Given the description of an element on the screen output the (x, y) to click on. 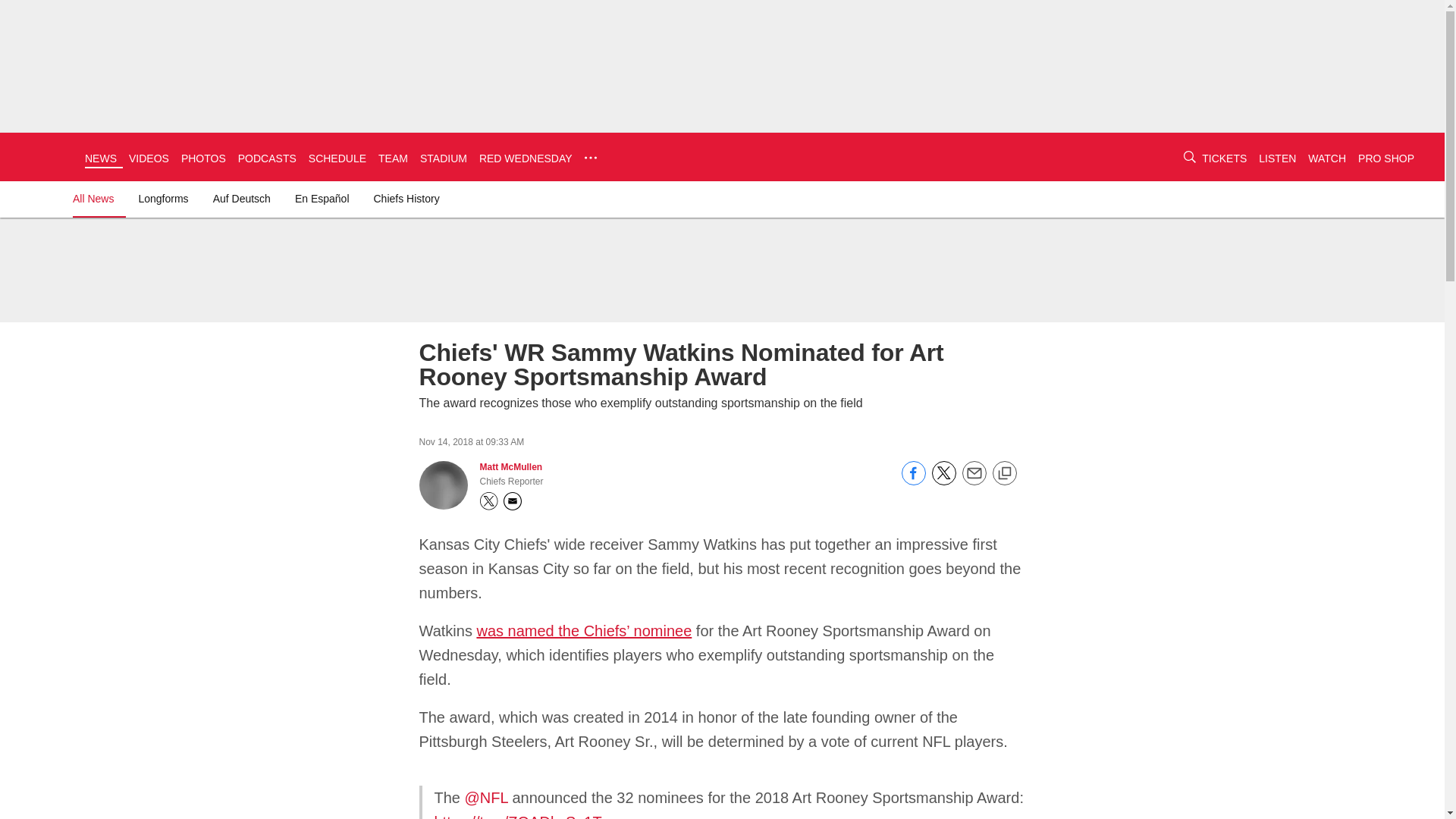
Chiefs History (405, 198)
SCHEDULE (337, 158)
Link to club's homepage (42, 156)
TEAM (392, 158)
PHOTOS (202, 158)
WATCH (1326, 158)
Longforms (162, 198)
VIDEOS (148, 158)
PODCASTS (267, 158)
NEWS (100, 158)
